Given the description of an element on the screen output the (x, y) to click on. 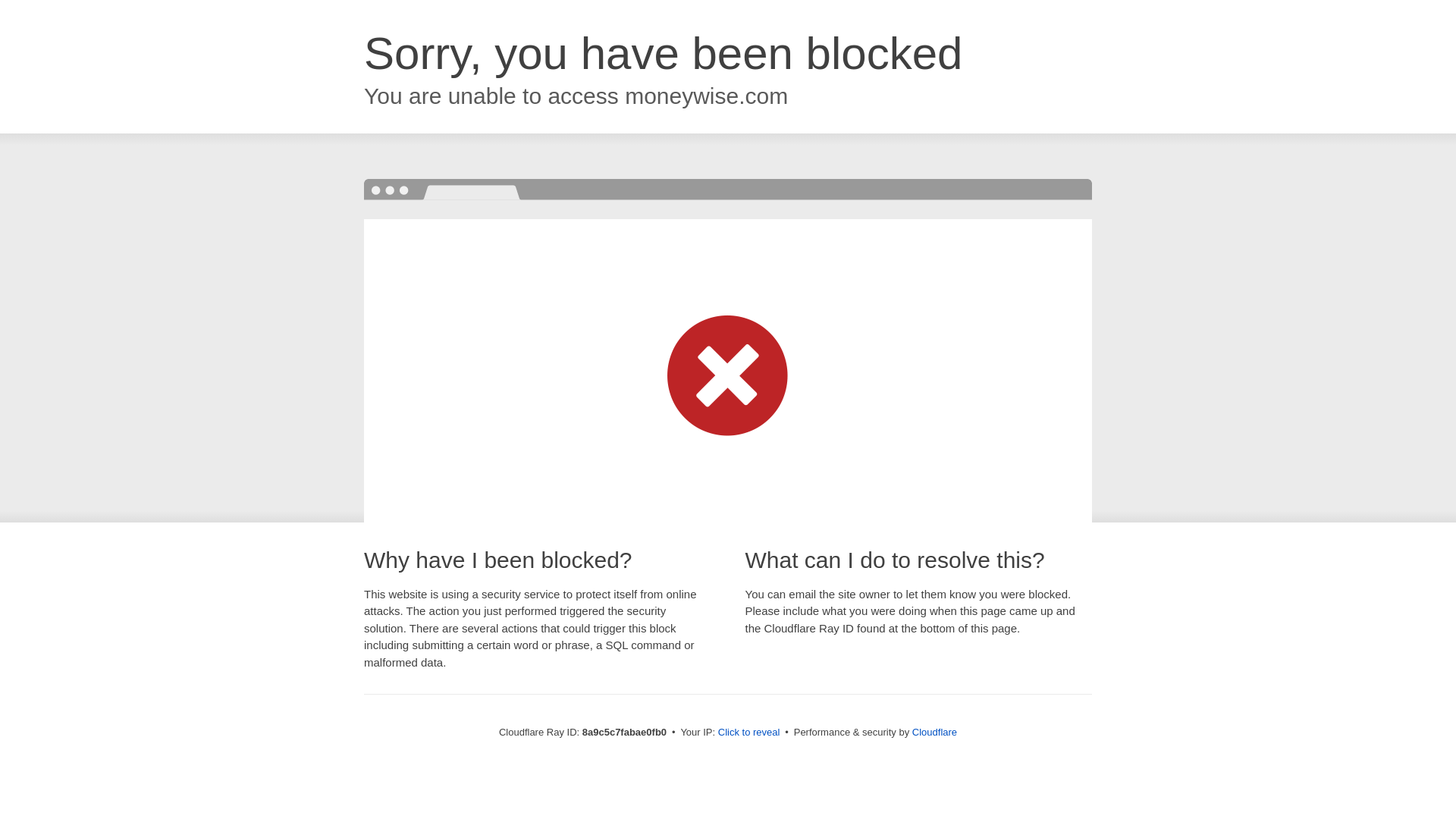
Click to reveal (748, 732)
Cloudflare (934, 731)
